Given the description of an element on the screen output the (x, y) to click on. 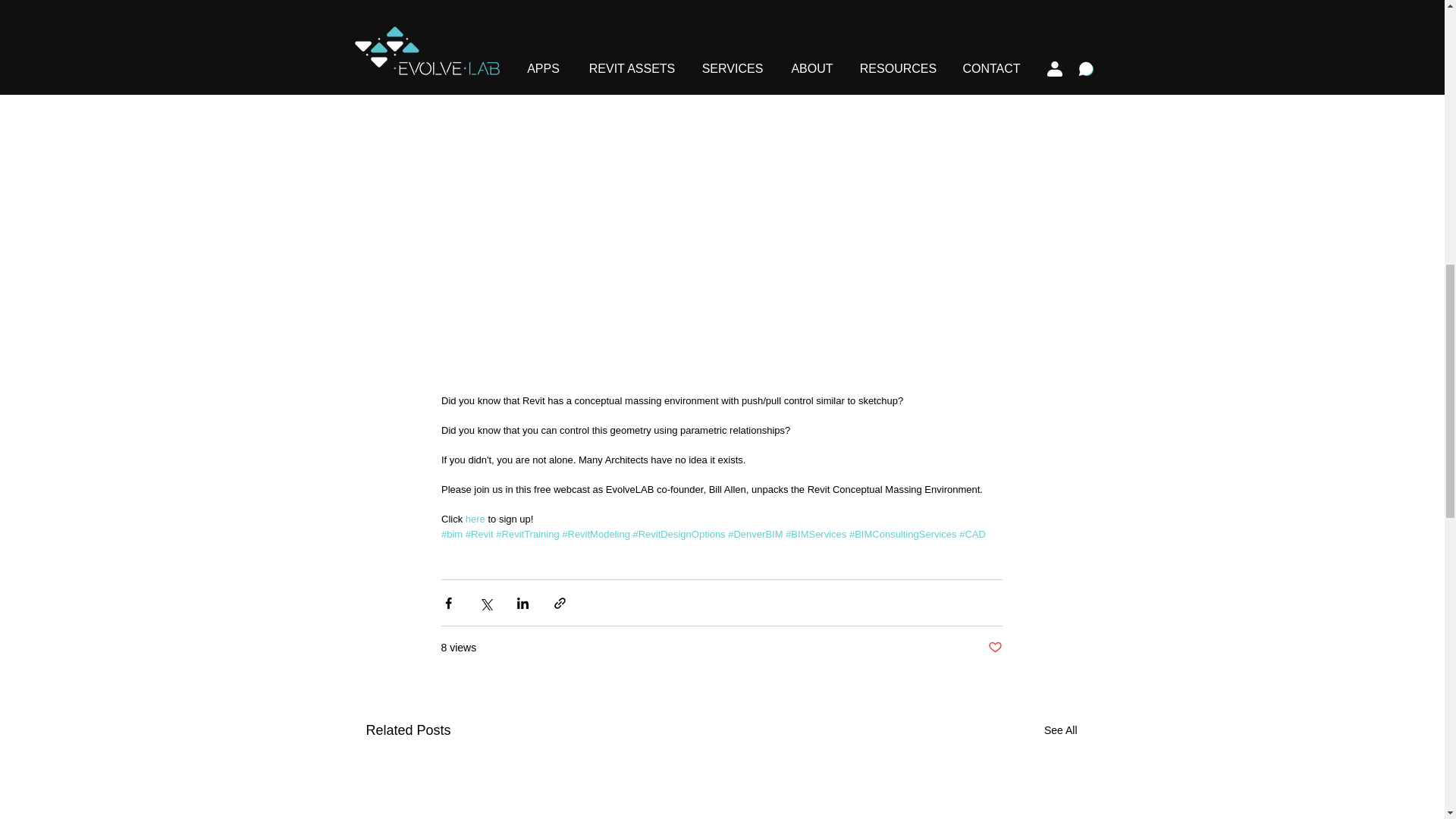
here (474, 518)
